Given the description of an element on the screen output the (x, y) to click on. 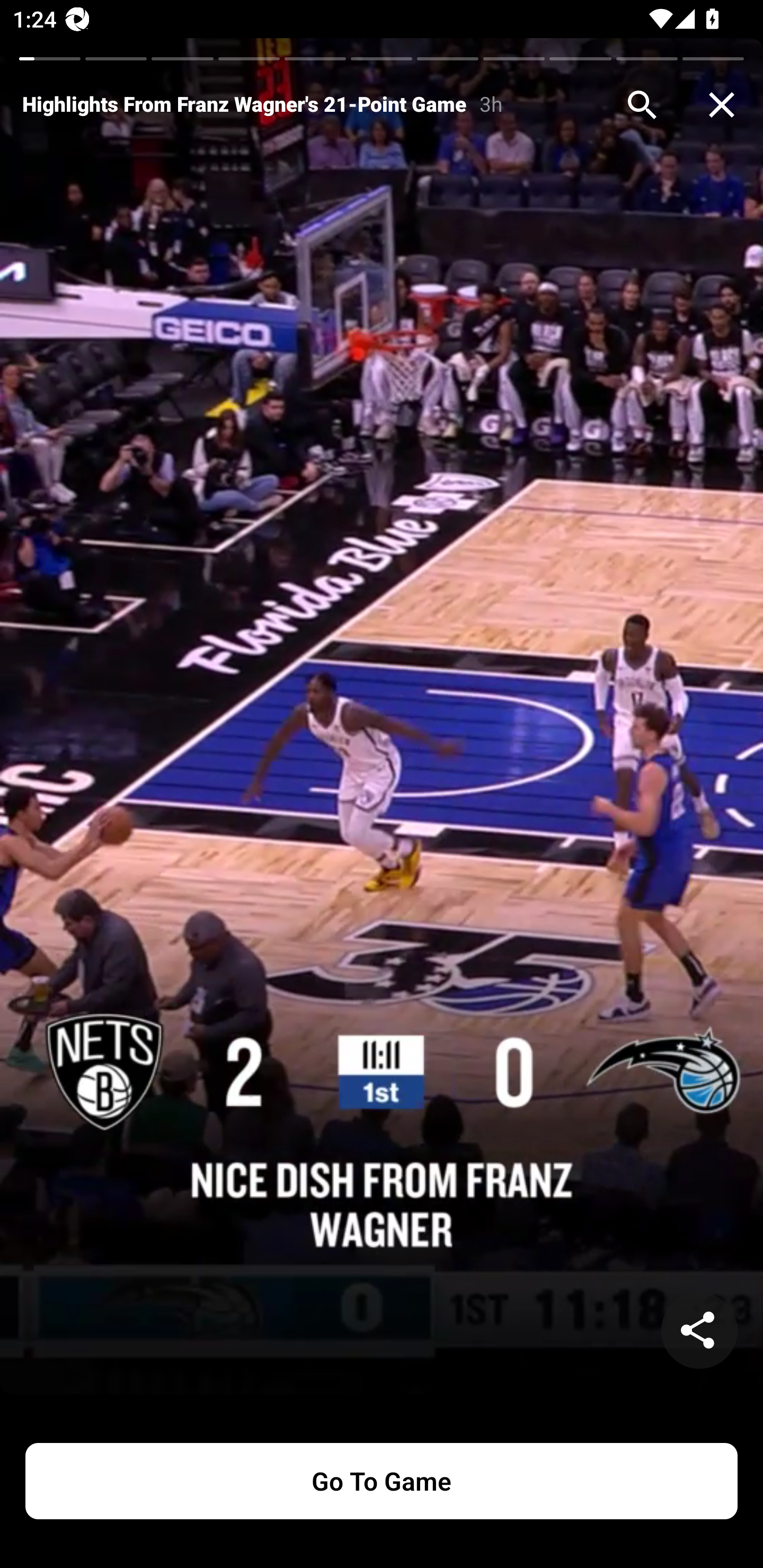
search (642, 104)
close (721, 104)
share (699, 1330)
Go To Game (381, 1480)
